Given the description of an element on the screen output the (x, y) to click on. 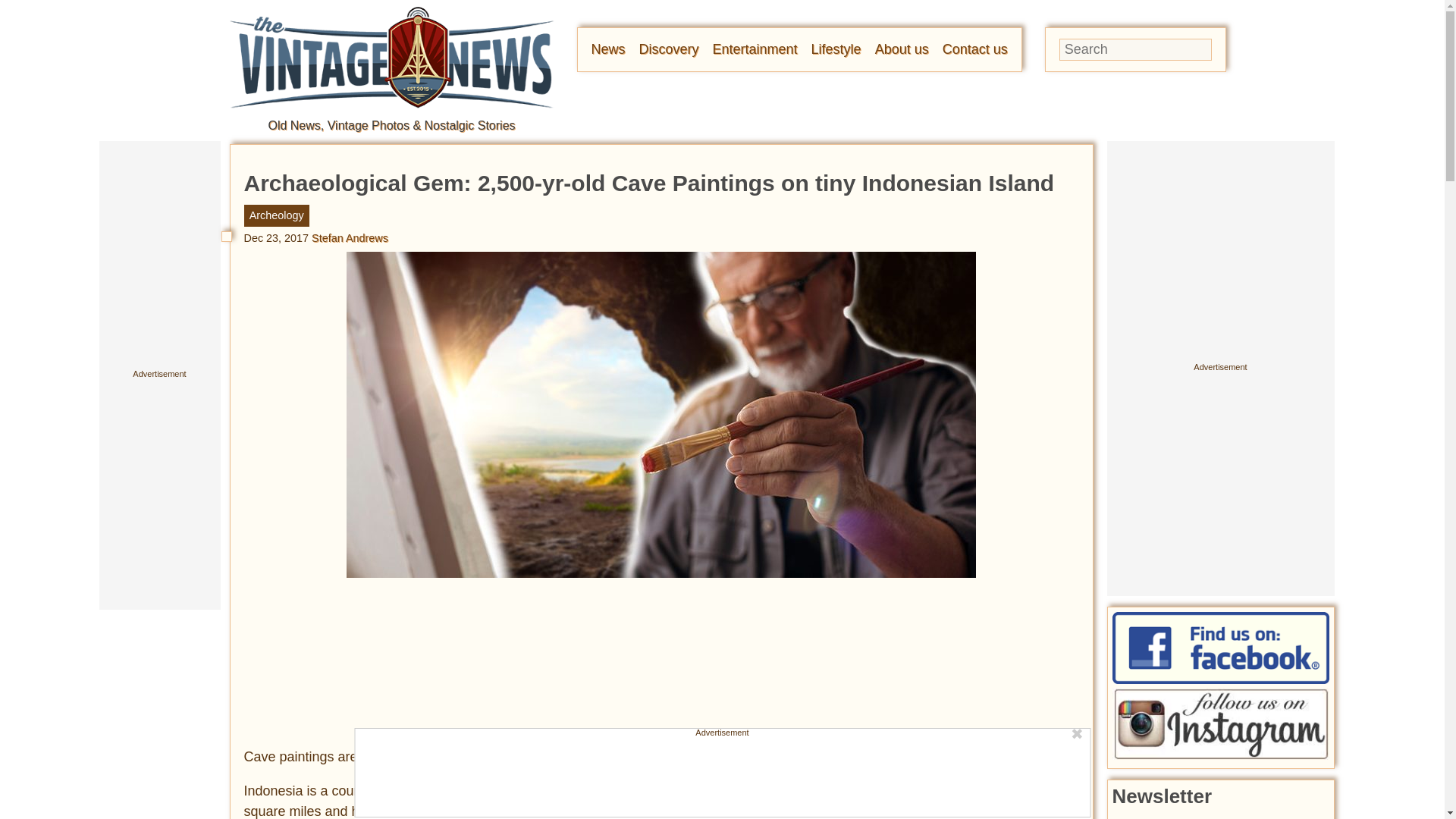
News (608, 48)
About us (901, 48)
Contact us (974, 48)
Entertainment (755, 48)
Discovery (668, 48)
Lifestyle (835, 48)
